Given the description of an element on the screen output the (x, y) to click on. 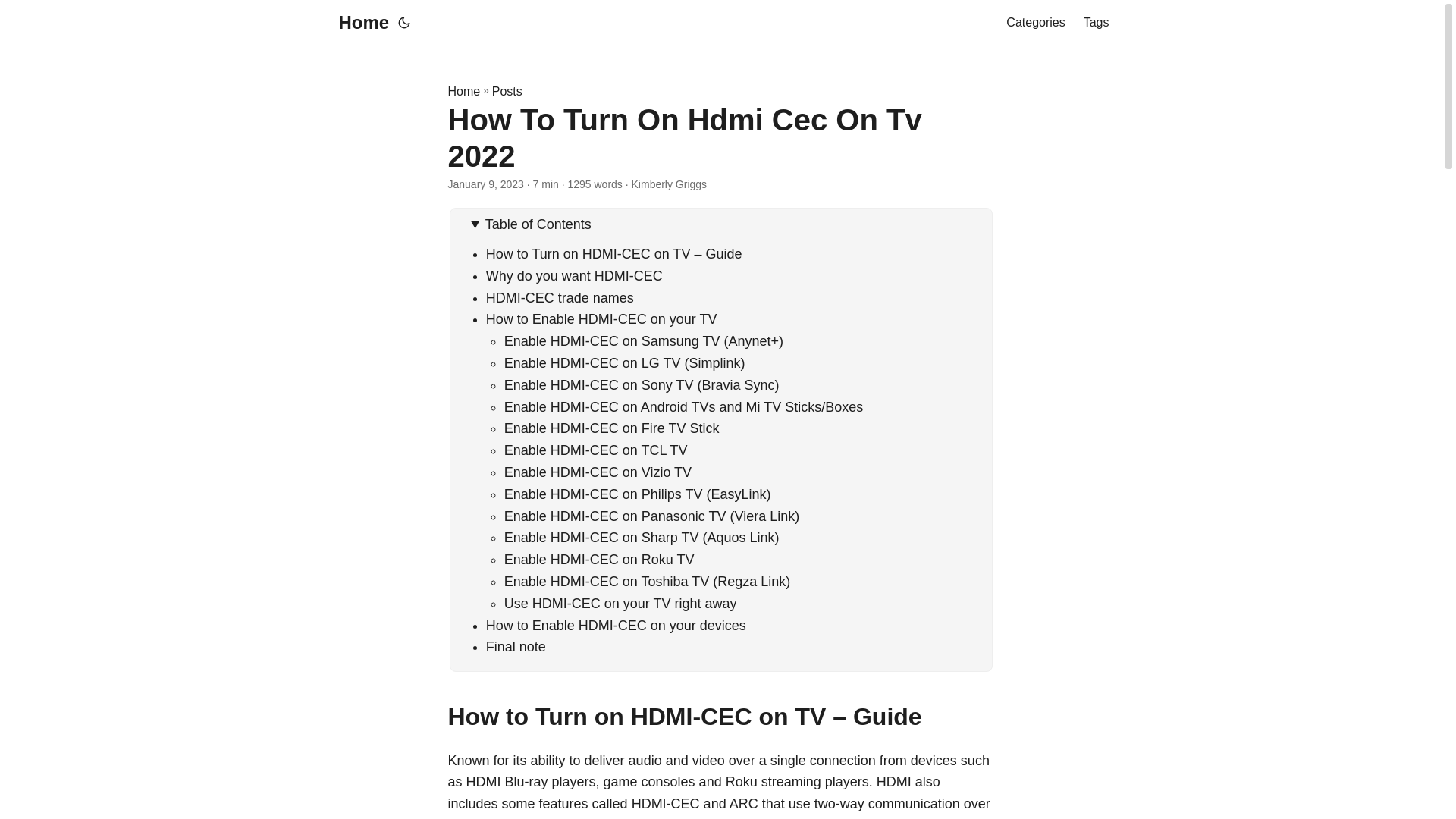
Enable HDMI-CEC on Roku TV (598, 559)
Enable HDMI-CEC on Fire TV Stick (611, 427)
HDMI-CEC trade names (559, 297)
Home (463, 91)
Final note (516, 646)
Posts (507, 91)
Why do you want HDMI-CEC (574, 275)
Enable HDMI-CEC on Vizio TV (597, 472)
How to Enable HDMI-CEC on your TV (601, 319)
Use HDMI-CEC on your TV right away (619, 603)
